Given the description of an element on the screen output the (x, y) to click on. 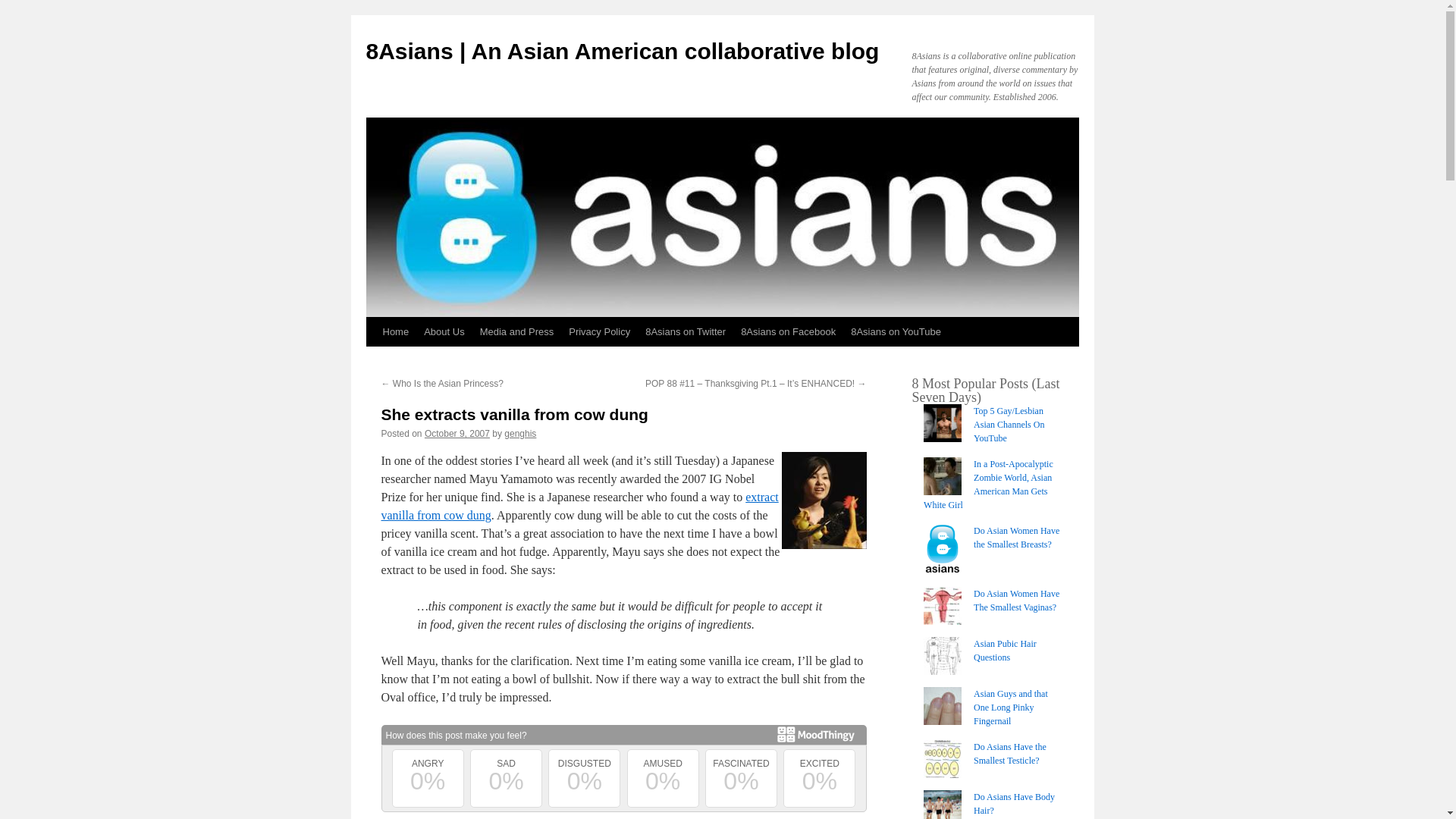
About Us (443, 331)
8Asians on Twitter (685, 331)
Media and Press (516, 331)
Asian Pubic Hair Questions (1005, 650)
genghis (519, 433)
extract vanilla from cow dung (578, 505)
Home (395, 331)
View all posts by genghis (519, 433)
8Asians on Facebook (788, 331)
Privacy Policy (598, 331)
Do Asian Women Have the Smallest Breasts? (1016, 537)
2:19 pm (457, 433)
8Asians on YouTube (896, 331)
October 9, 2007 (457, 433)
